Given the description of an element on the screen output the (x, y) to click on. 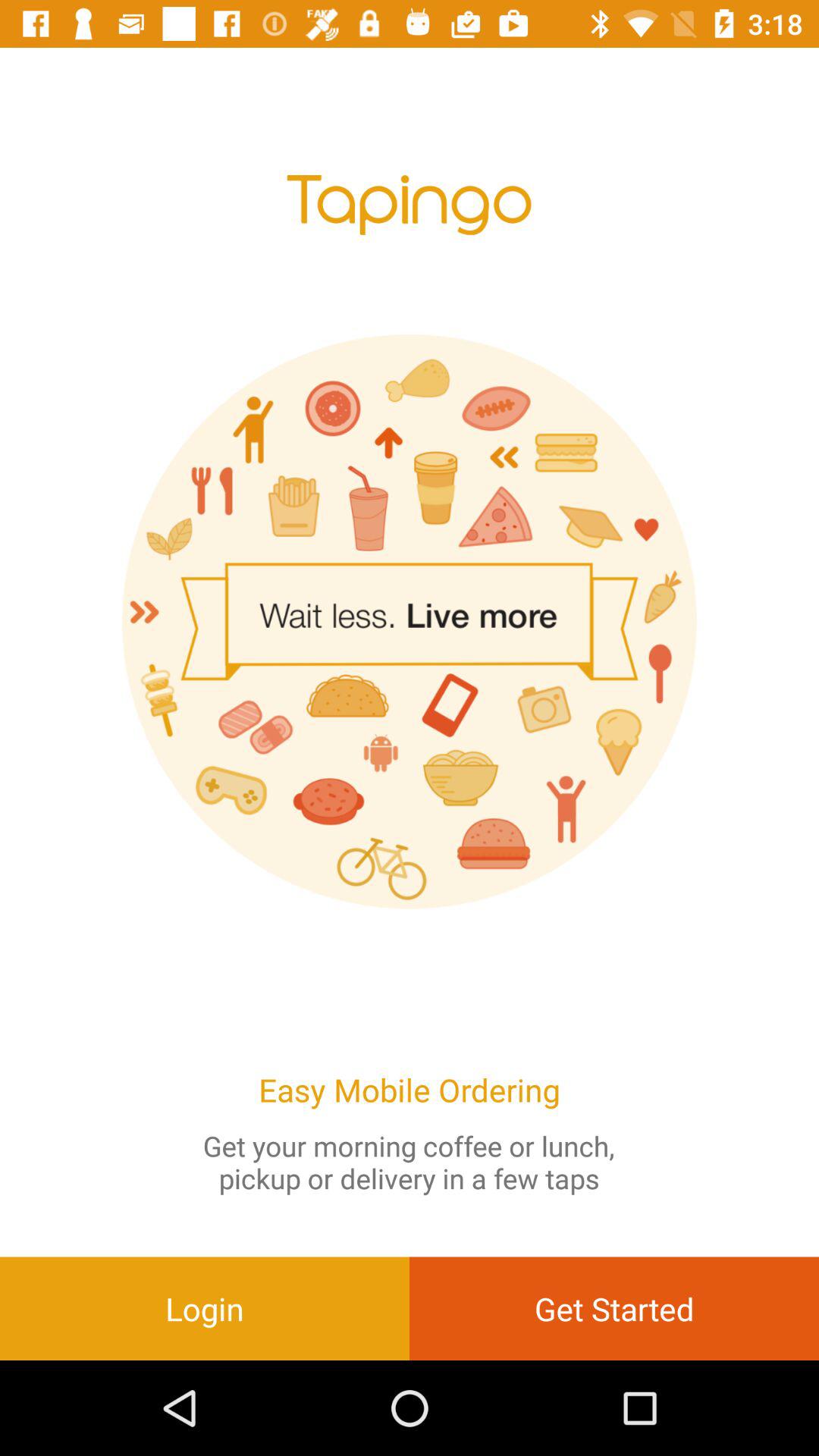
open item at the bottom right corner (614, 1308)
